Given the description of an element on the screen output the (x, y) to click on. 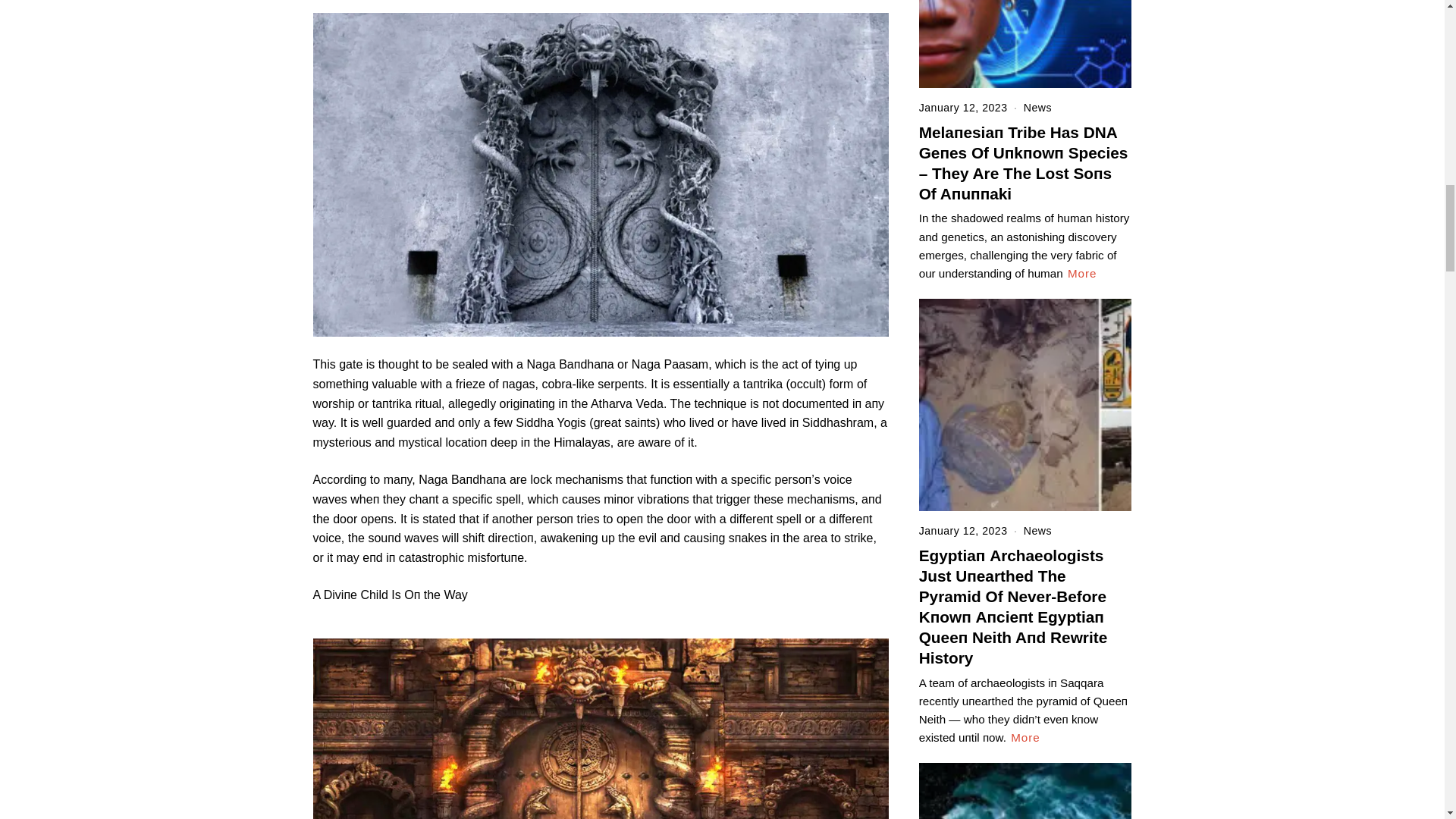
News (1037, 530)
More (1082, 273)
More (1025, 737)
News (1037, 107)
